Given the description of an element on the screen output the (x, y) to click on. 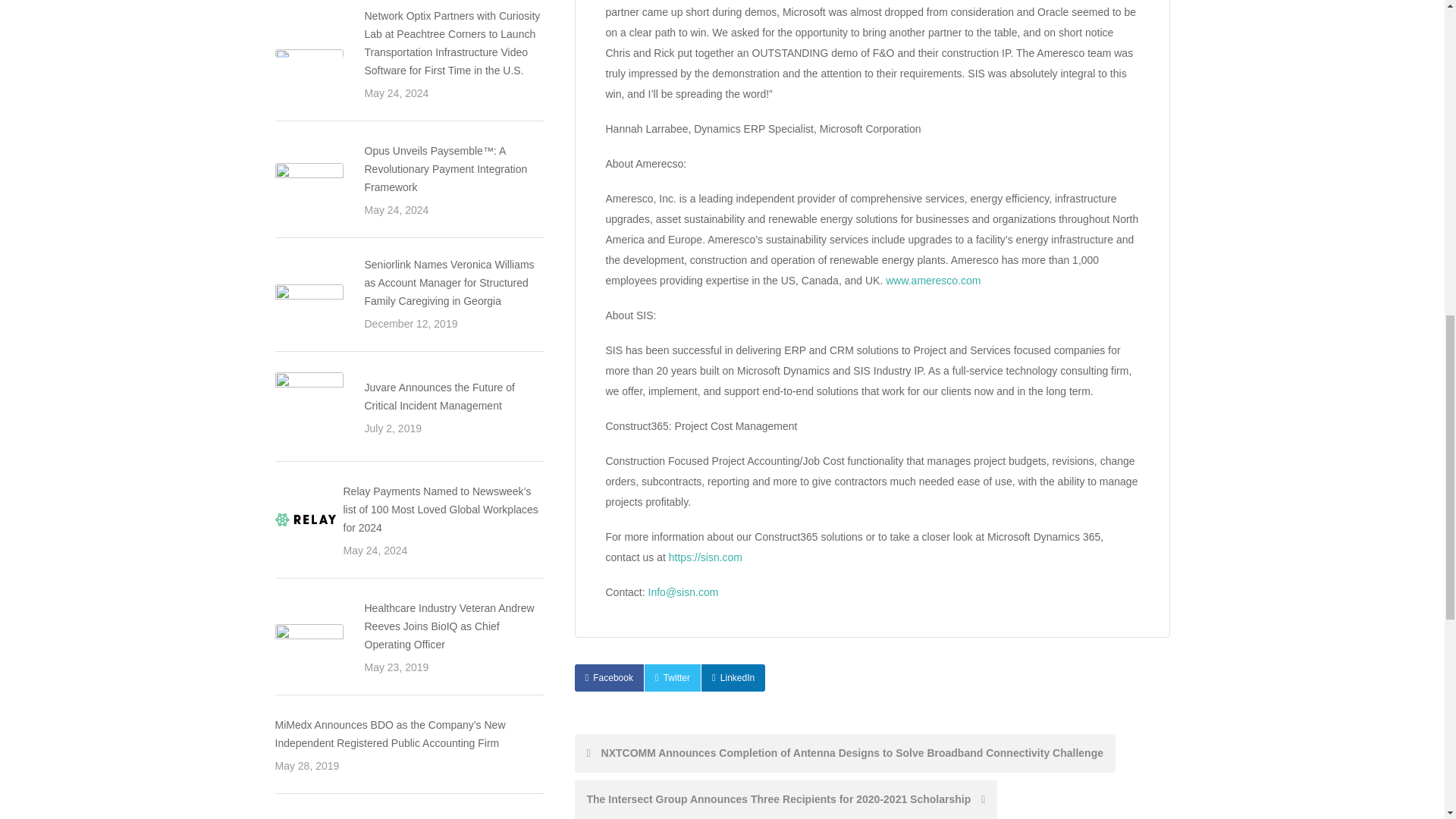
Twitter (672, 677)
Facebook (609, 677)
LinkedIn (733, 677)
www.ameresco.com (932, 280)
Twitter (672, 677)
